Given the description of an element on the screen output the (x, y) to click on. 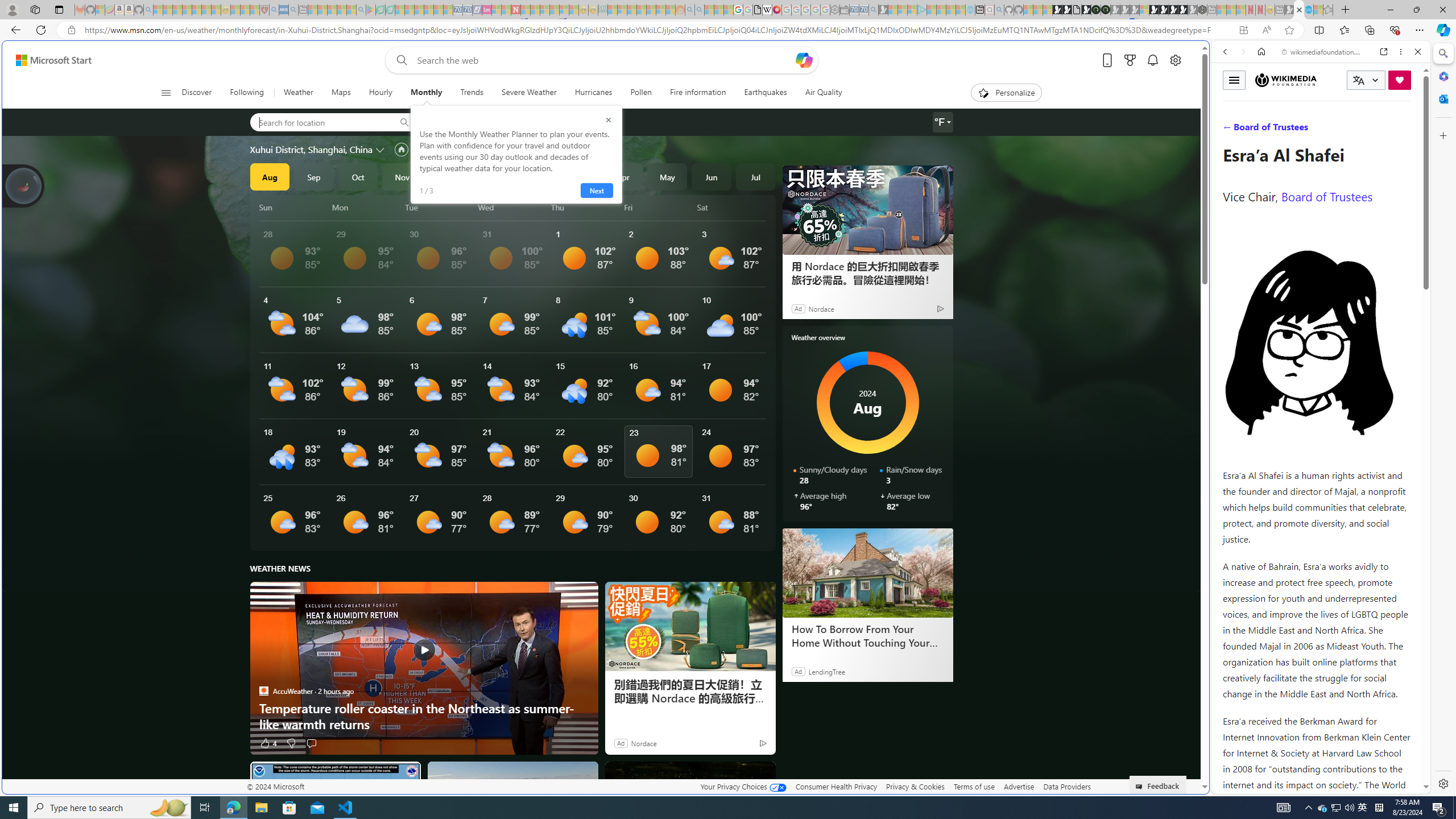
Microsoft Start Gaming - Sleeping (882, 9)
Weather (298, 92)
Jun (710, 176)
May (667, 176)
Cheap Hotels - Save70.com - Sleeping (467, 9)
Nov (401, 176)
